Given the description of an element on the screen output the (x, y) to click on. 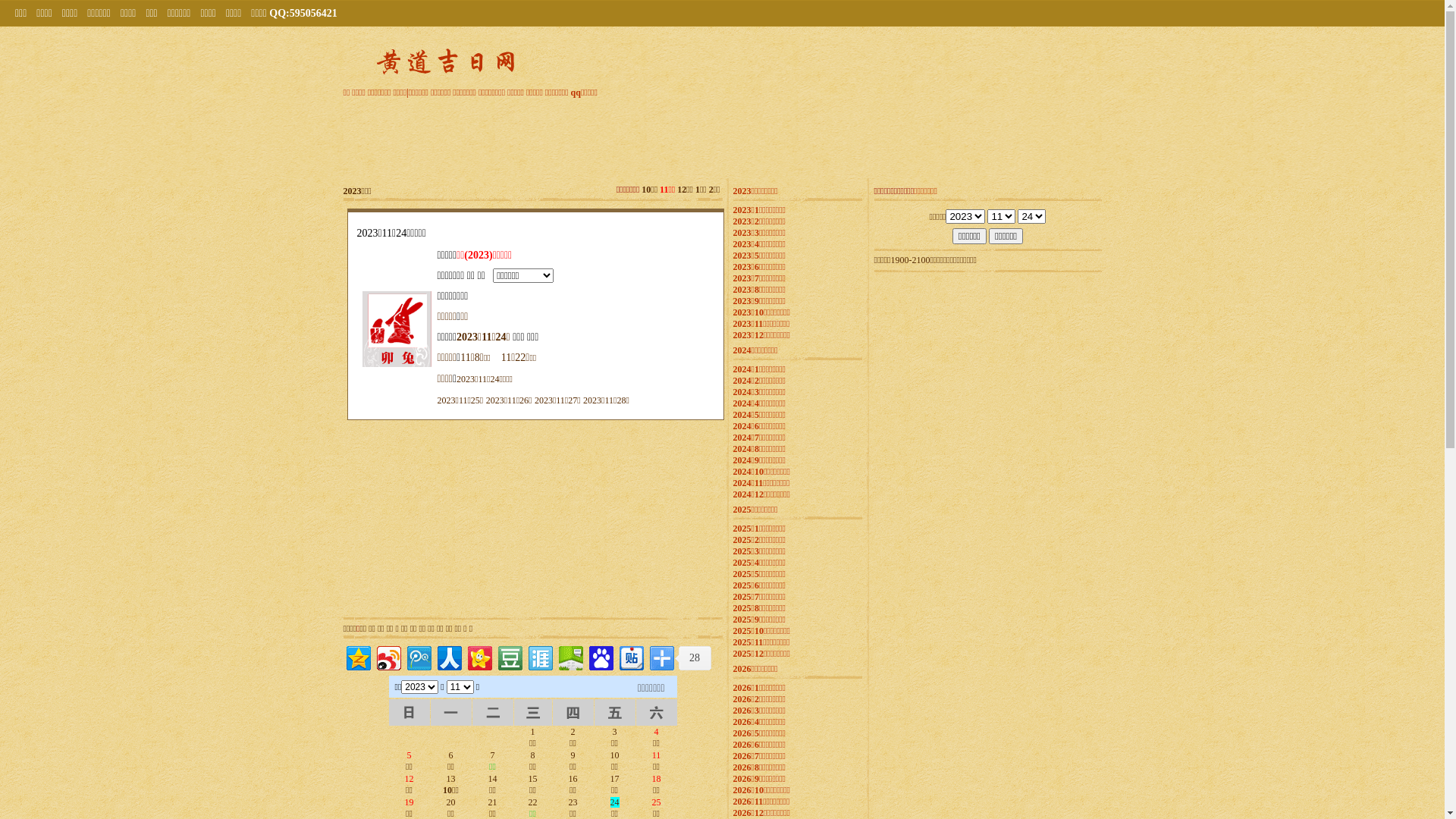
Advertisement Element type: hover (987, 370)
Advertisement Element type: hover (987, 560)
Advertisement Element type: hover (722, 136)
28 Element type: text (692, 658)
Advertisement Element type: hover (437, 518)
Advertisement Element type: hover (626, 518)
